Given the description of an element on the screen output the (x, y) to click on. 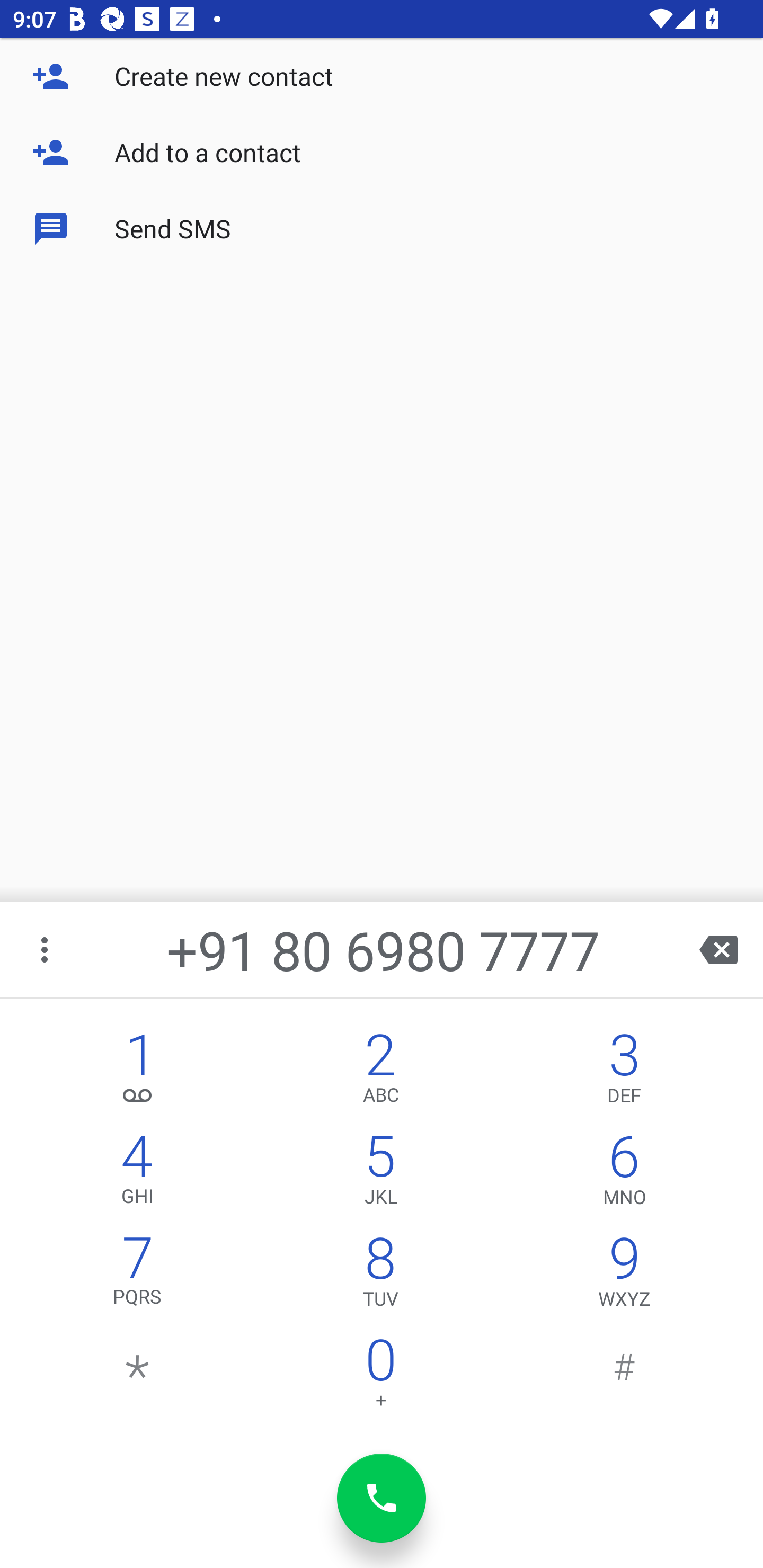
Create new contact (381, 75)
Add to a contact (381, 152)
Send SMS (381, 228)
+91 80 6980 7777 (382, 949)
backspace (718, 949)
More options (45, 949)
1, 1 (137, 1071)
2,ABC 2 ABC (380, 1071)
3,DEF 3 DEF (624, 1071)
4,GHI 4 GHI (137, 1173)
5,JKL 5 JKL (380, 1173)
6,MNO 6 MNO (624, 1173)
7,PQRS 7 PQRS (137, 1275)
8,TUV 8 TUV (380, 1275)
9,WXYZ 9 WXYZ (624, 1275)
* (137, 1377)
0 0 + (380, 1377)
# (624, 1377)
dial (381, 1497)
